Given the description of an element on the screen output the (x, y) to click on. 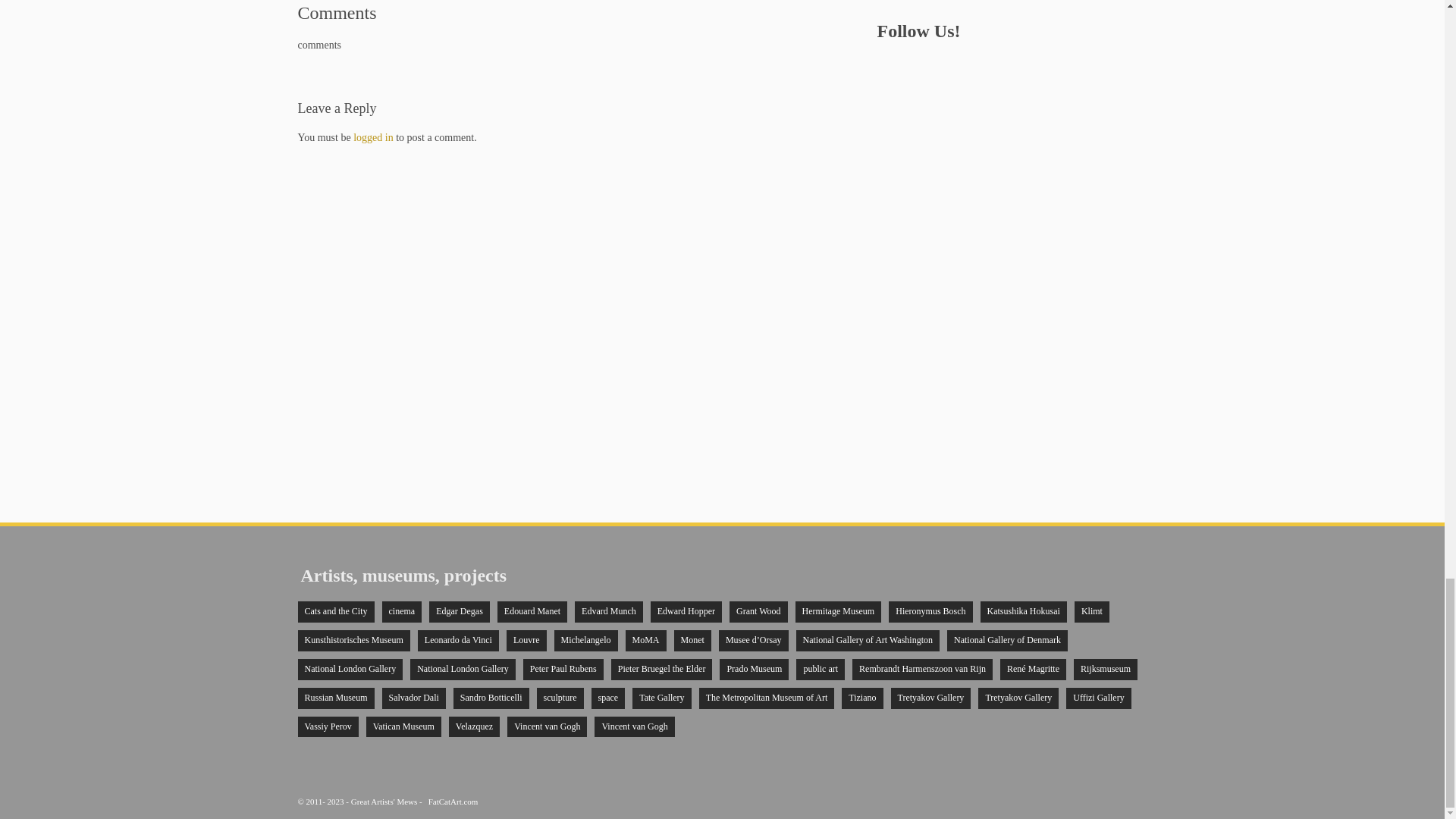
Follow Us on Facebook (885, 64)
Follow Us on Twitter (917, 64)
logged in (373, 137)
